Given the description of an element on the screen output the (x, y) to click on. 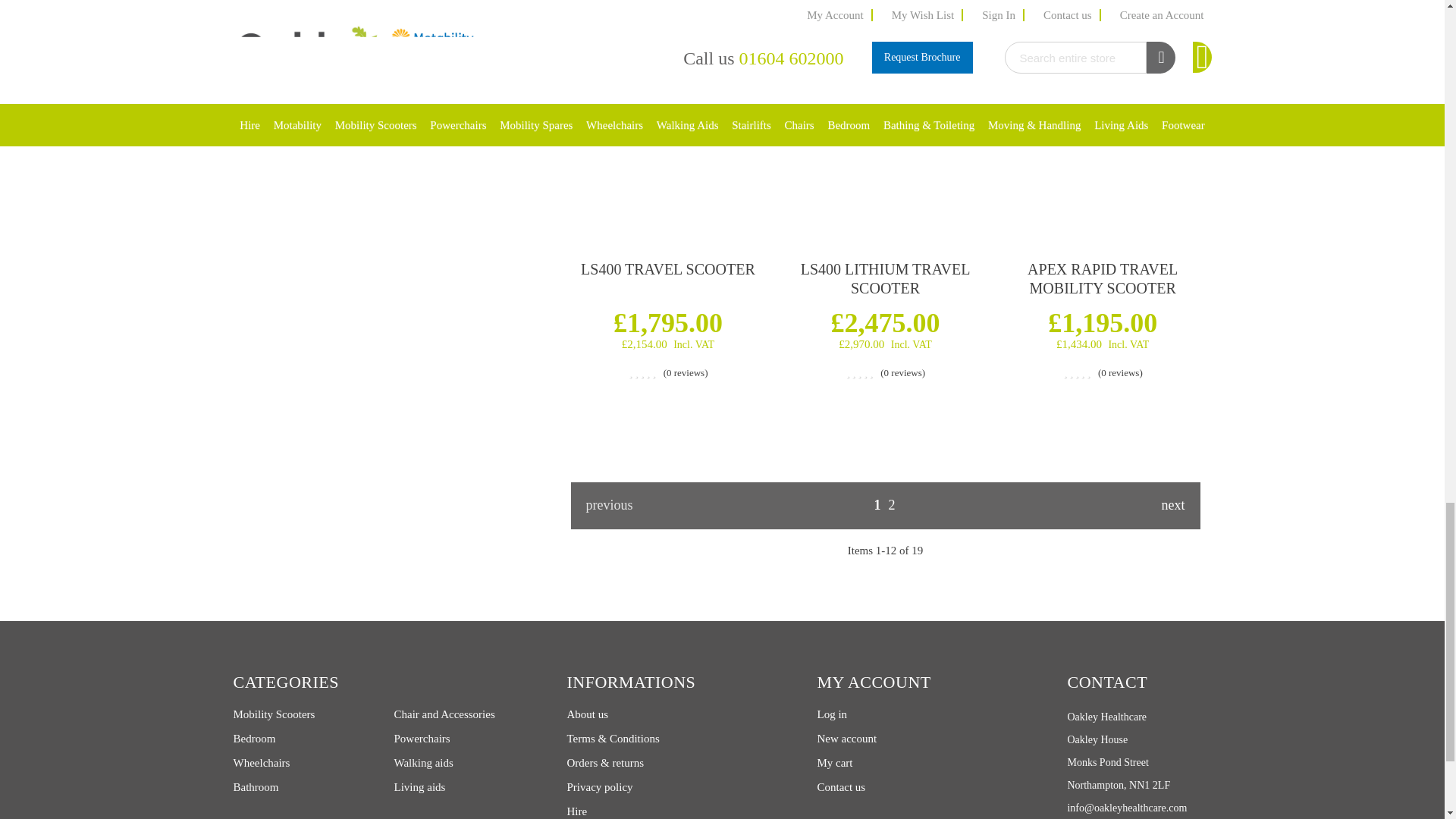
Previous (616, 504)
Next (1154, 504)
